Given the description of an element on the screen output the (x, y) to click on. 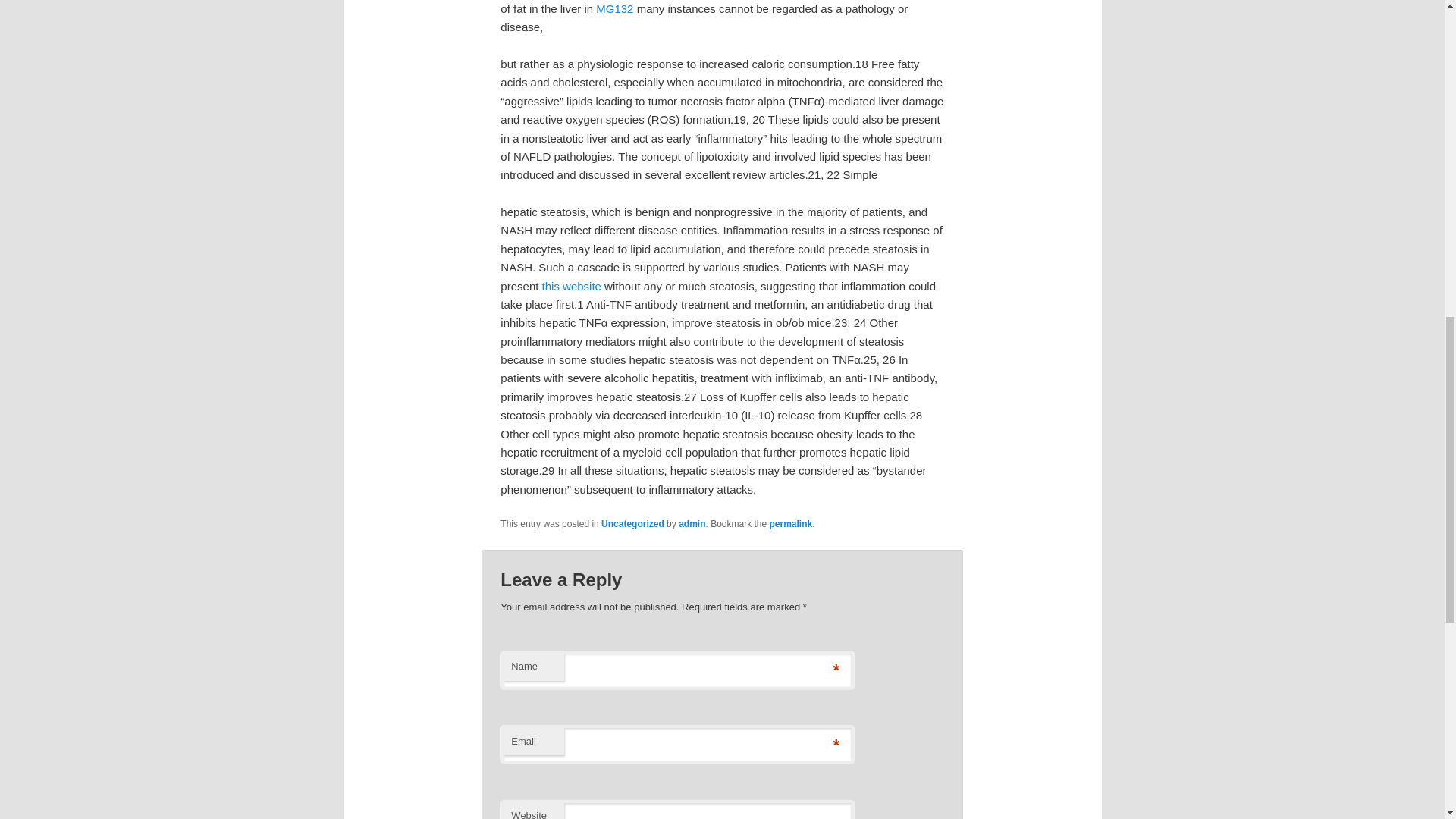
this website (571, 286)
Uncategorized (632, 523)
permalink (791, 523)
MG132 (614, 8)
admin (691, 523)
View all posts in Uncategorized (632, 523)
